Given the description of an element on the screen output the (x, y) to click on. 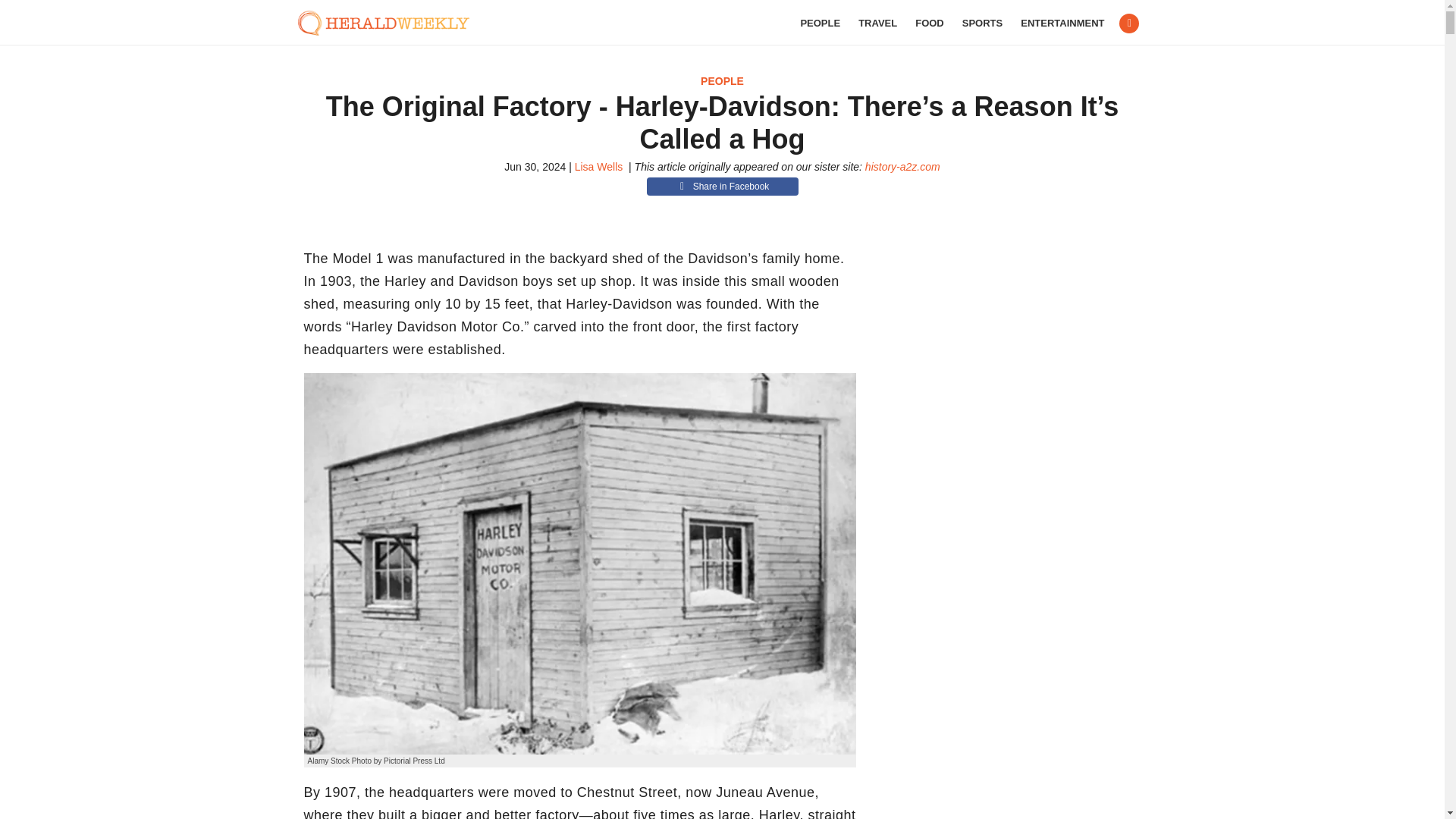
SPORTS (982, 23)
PEOPLE (819, 23)
history-a2z.com (902, 166)
TRAVEL (877, 23)
Share in Facebook (721, 186)
Facebook (1128, 23)
Lisa Wells (599, 166)
ENTERTAINMENT (1061, 23)
Herald Weekly (391, 22)
PEOPLE (722, 80)
